Given the description of an element on the screen output the (x, y) to click on. 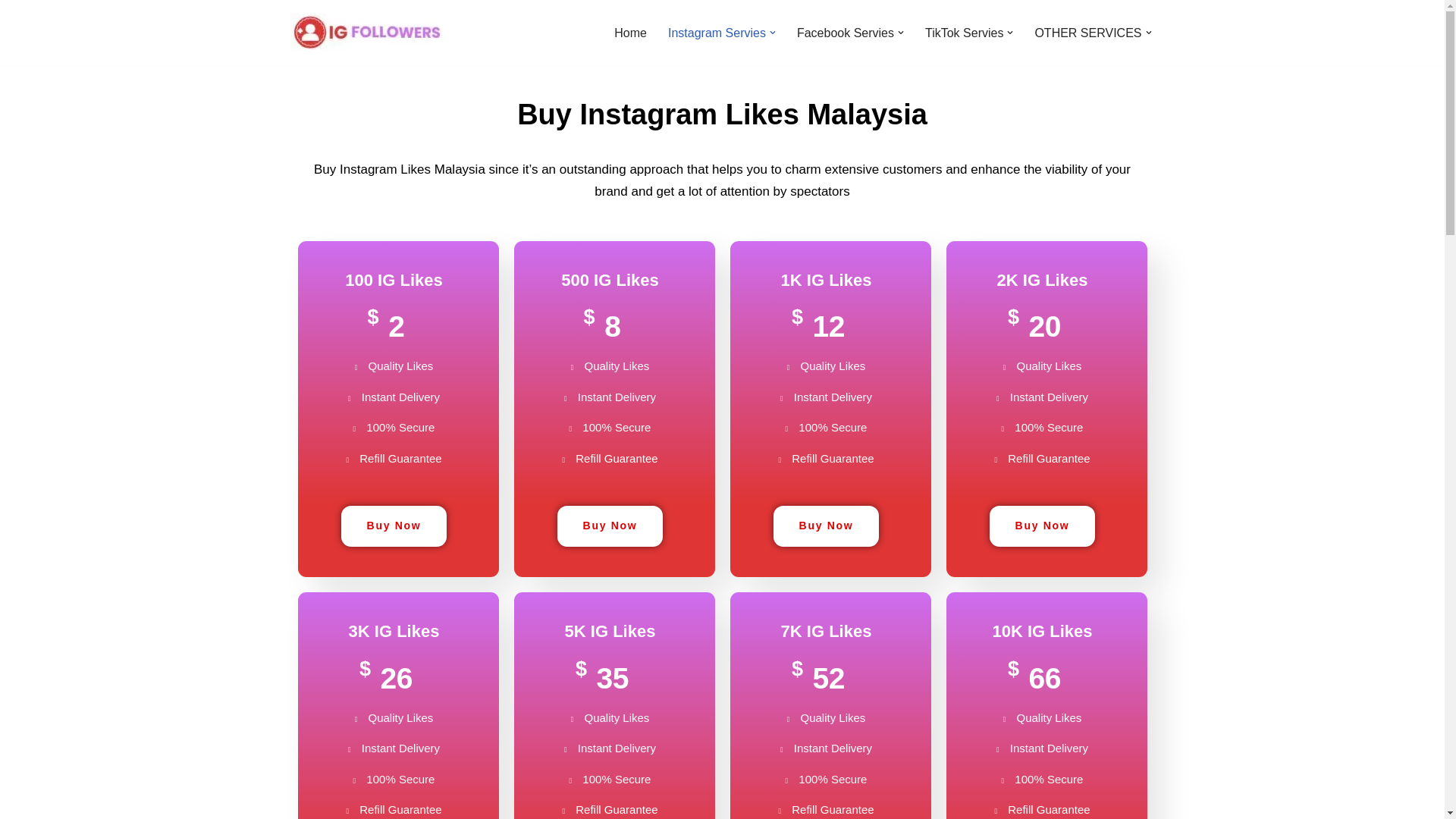
Home (630, 32)
Buy Now (393, 526)
Instagram Servies (716, 32)
TikTok Servies (963, 32)
Buy Now (610, 526)
Skip to content (11, 31)
OTHER SERVICES (1087, 32)
Facebook Servies (844, 32)
Buy Now (826, 526)
